Given the description of an element on the screen output the (x, y) to click on. 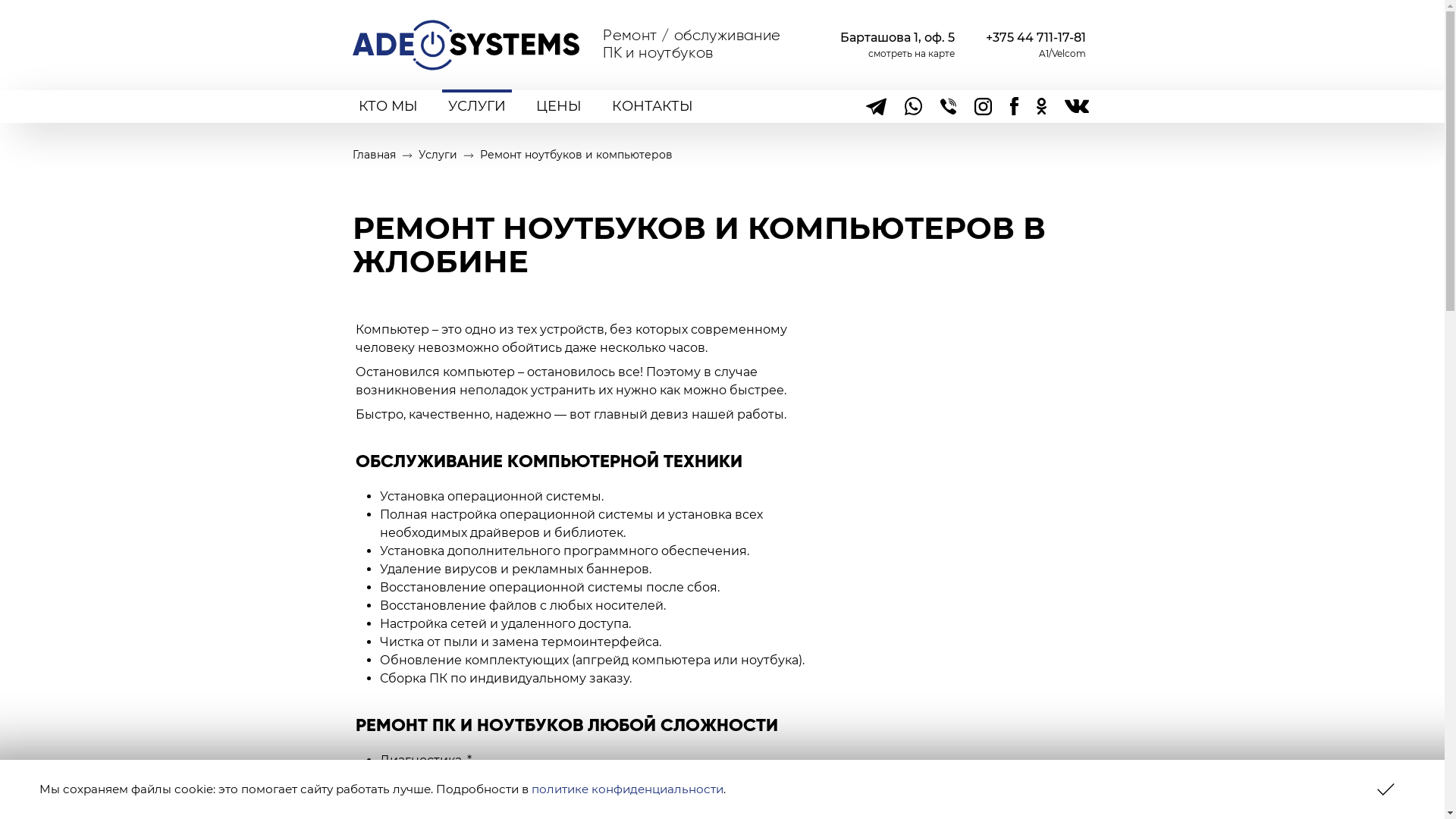
+375 44 711-17-81 Element type: text (1035, 37)
